Given the description of an element on the screen output the (x, y) to click on. 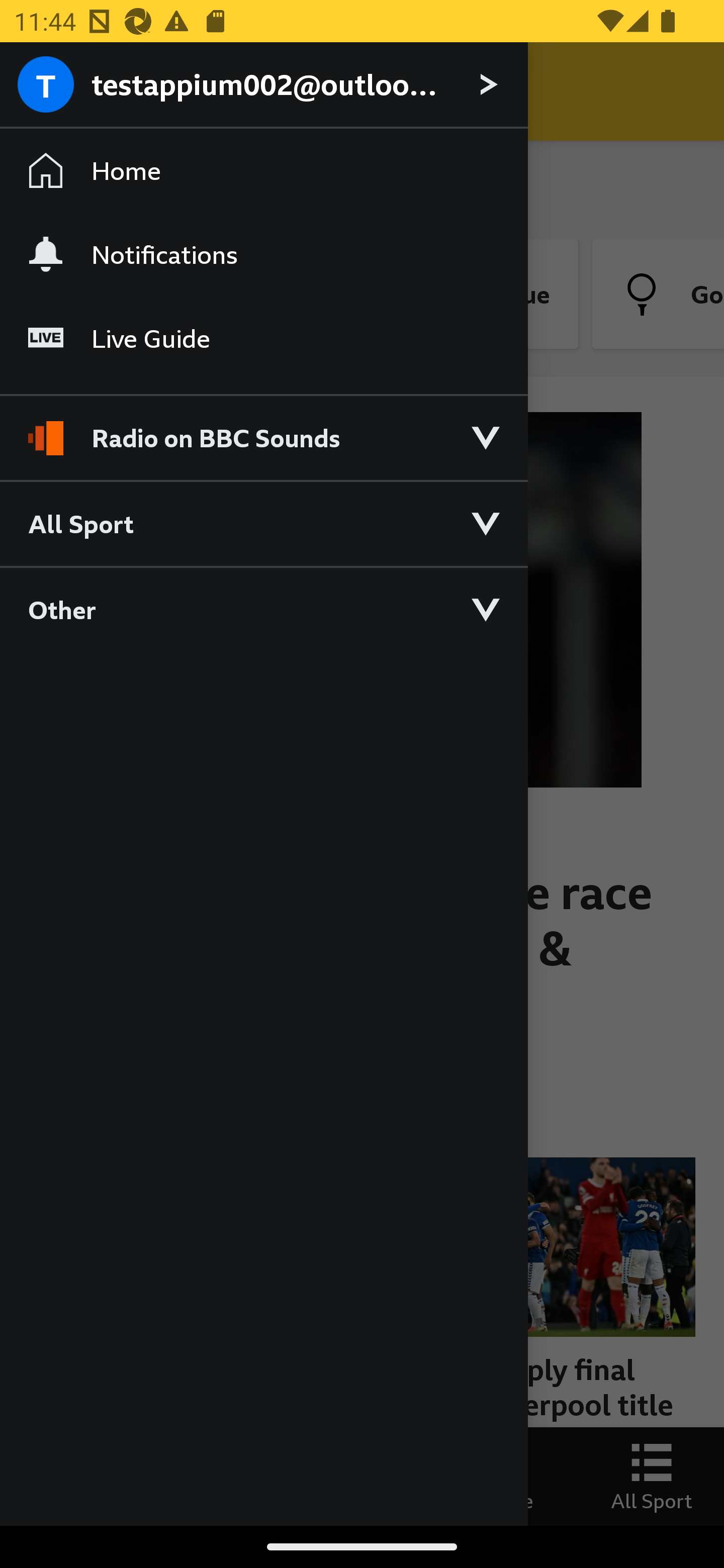
testappium002@outlook.com (263, 85)
Home (263, 170)
Notifications (263, 253)
Live Guide (263, 338)
Radio on BBC Sounds (263, 429)
All Sport (263, 522)
Other (263, 609)
